Given the description of an element on the screen output the (x, y) to click on. 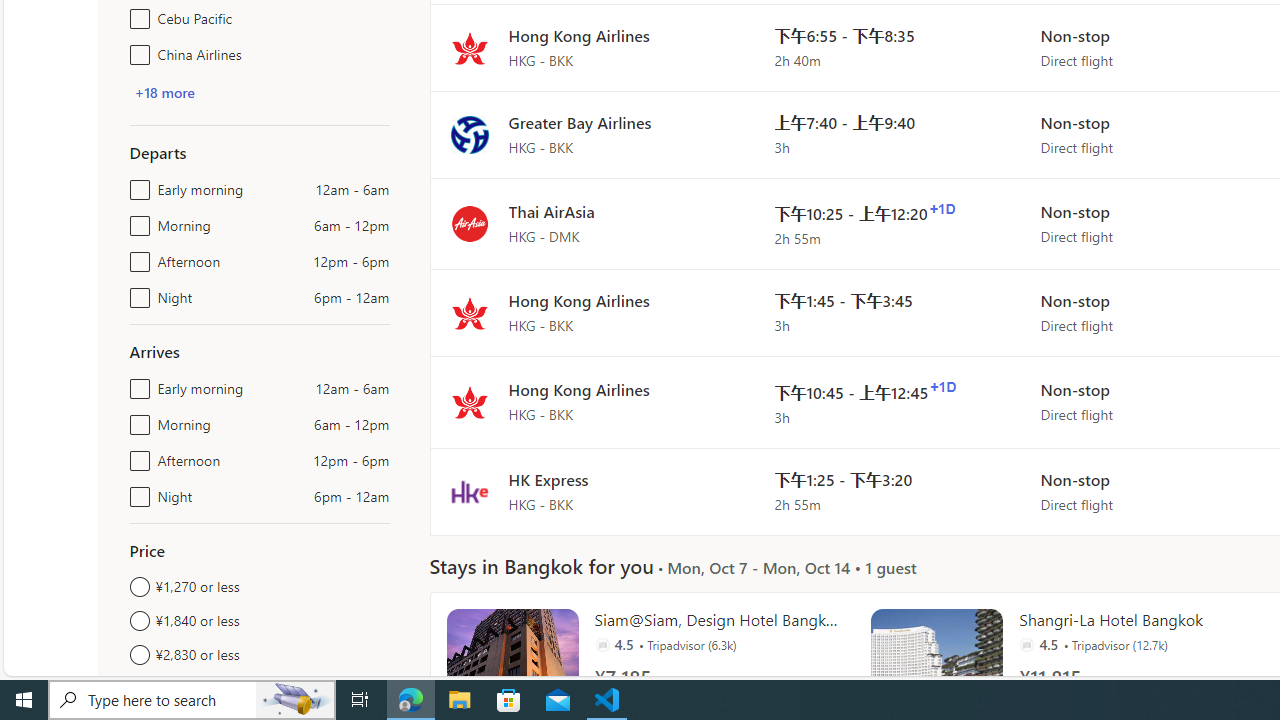
+18 more (164, 92)
Morning6am - 12pm (136, 420)
Early morning12am - 6am (136, 384)
Any price (259, 688)
Flight logo (469, 491)
Night6pm - 12am (136, 492)
Tripadvisor (1026, 644)
Cebu Pacific (136, 14)
Afternoon12pm - 6pm (136, 456)
China Airlines (136, 50)
